Given the description of an element on the screen output the (x, y) to click on. 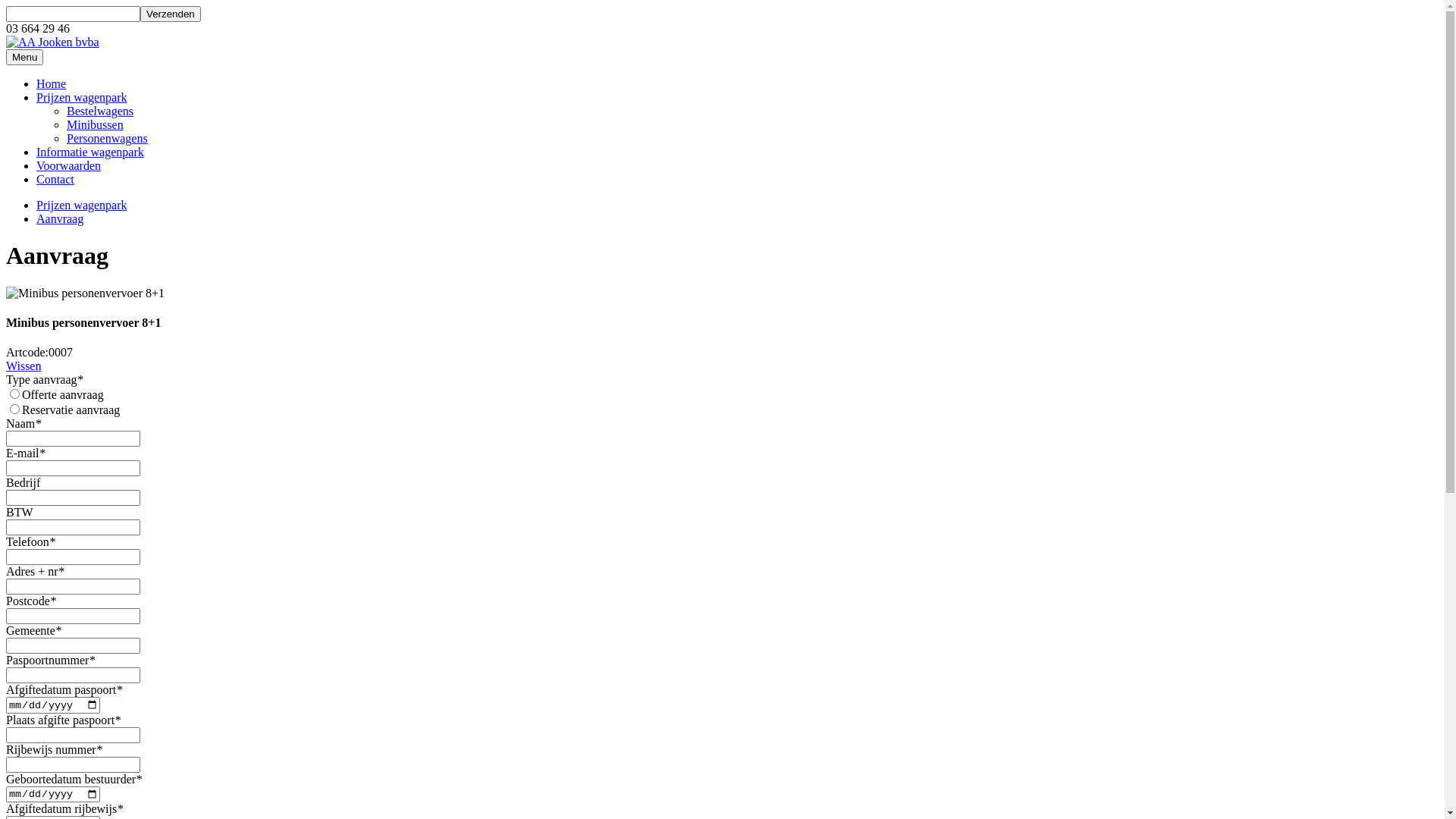
Home Element type: text (50, 83)
Minibus personenvervoer 8+1 Element type: hover (85, 293)
Informatie wagenpark Element type: text (90, 151)
Wissen Element type: text (23, 365)
Verzenden Element type: text (170, 13)
Minibussen Element type: text (94, 124)
Aanvraag Element type: text (59, 218)
Menu Element type: text (24, 57)
Voorwaarden Element type: text (68, 165)
Prijzen wagenpark Element type: text (81, 97)
Personenwagens Element type: text (106, 137)
Bestelwagens Element type: text (99, 110)
Prijzen wagenpark Element type: text (81, 204)
Contact Element type: text (55, 178)
